Given the description of an element on the screen output the (x, y) to click on. 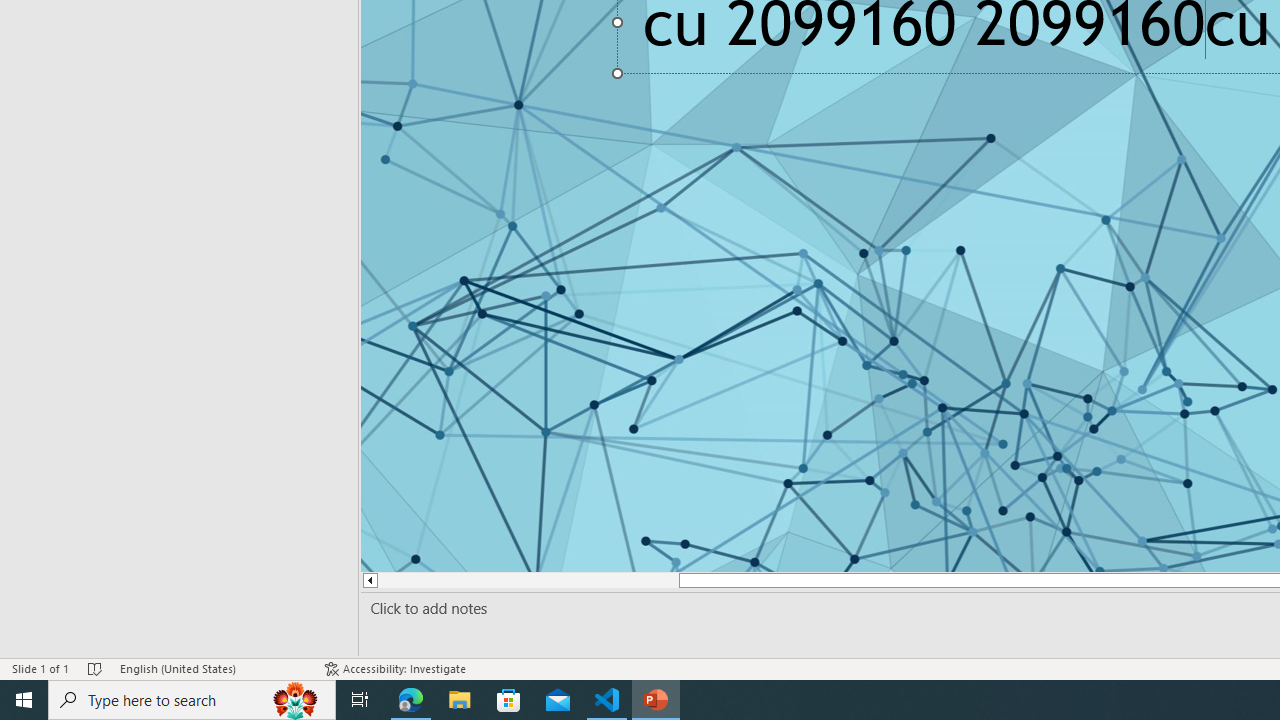
Page Number Page 1 of 1 (55, 640)
